Given the description of an element on the screen output the (x, y) to click on. 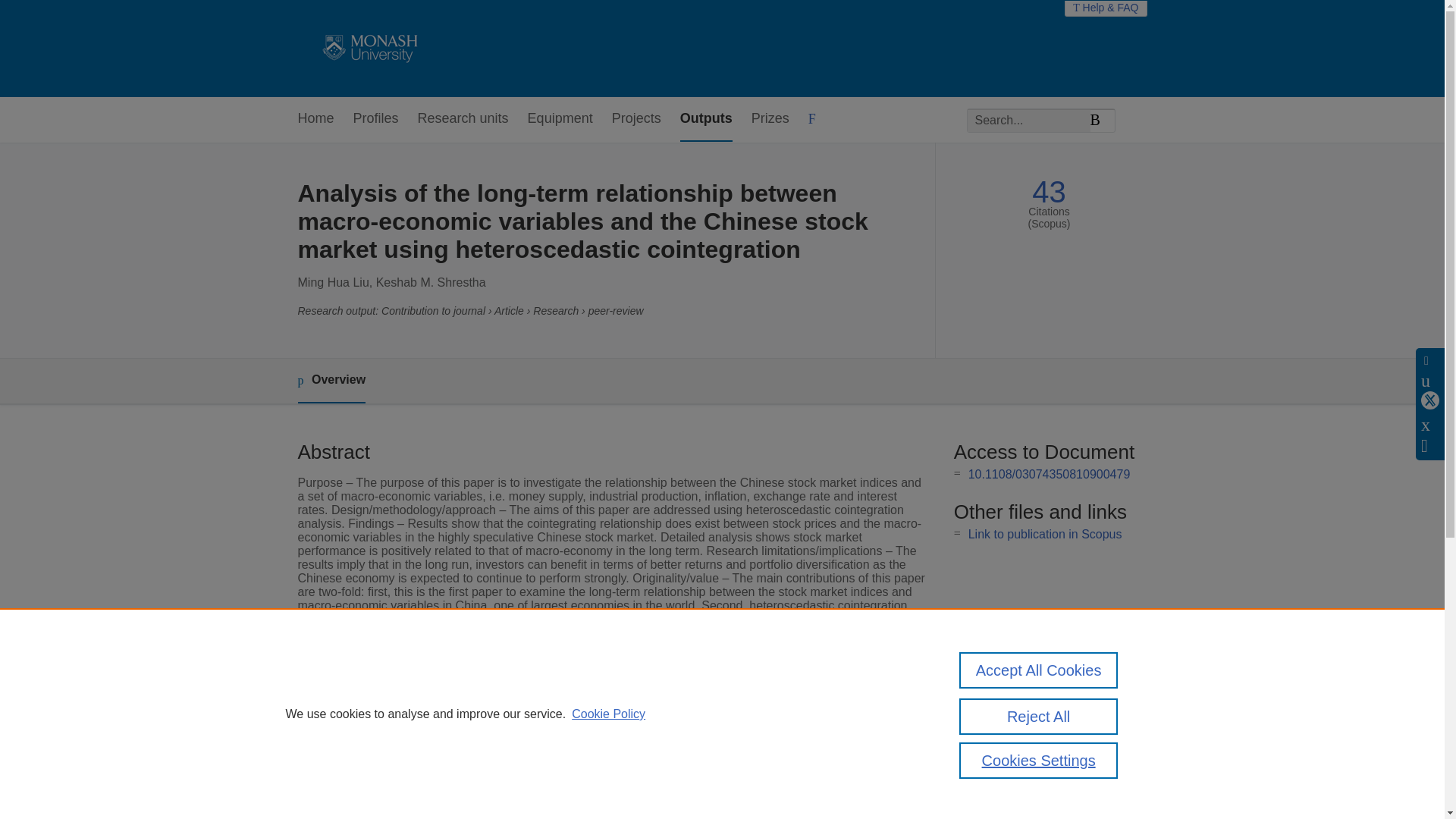
Reject All (1038, 716)
Link to publication in Scopus (1045, 533)
Equipment (559, 119)
Monash University Home (366, 48)
Managerial Finance (563, 709)
Projects (636, 119)
Overview (331, 380)
43 (1048, 192)
Profiles (375, 119)
Outputs (705, 119)
